Given the description of an element on the screen output the (x, y) to click on. 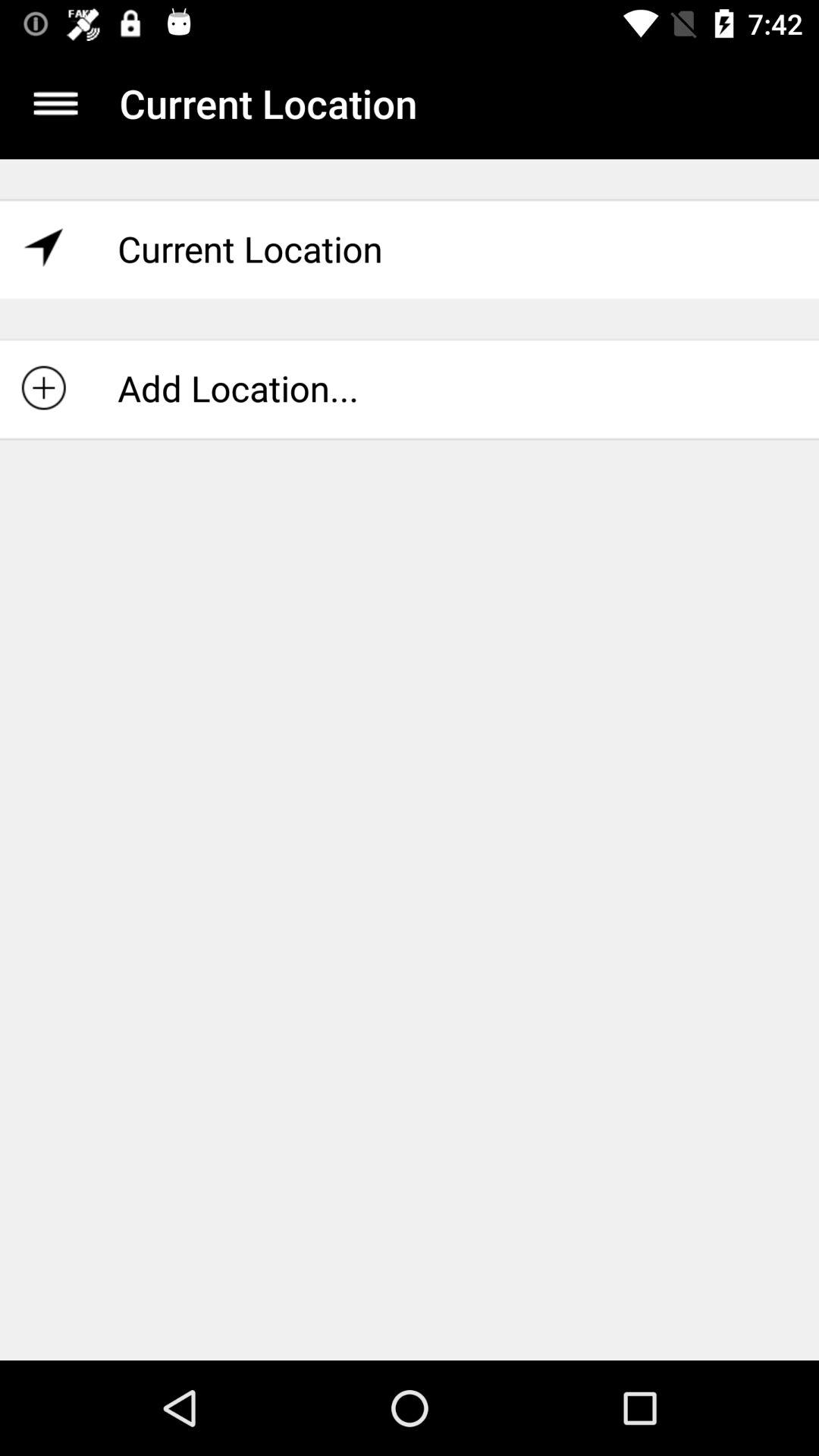
more button (55, 103)
